Given the description of an element on the screen output the (x, y) to click on. 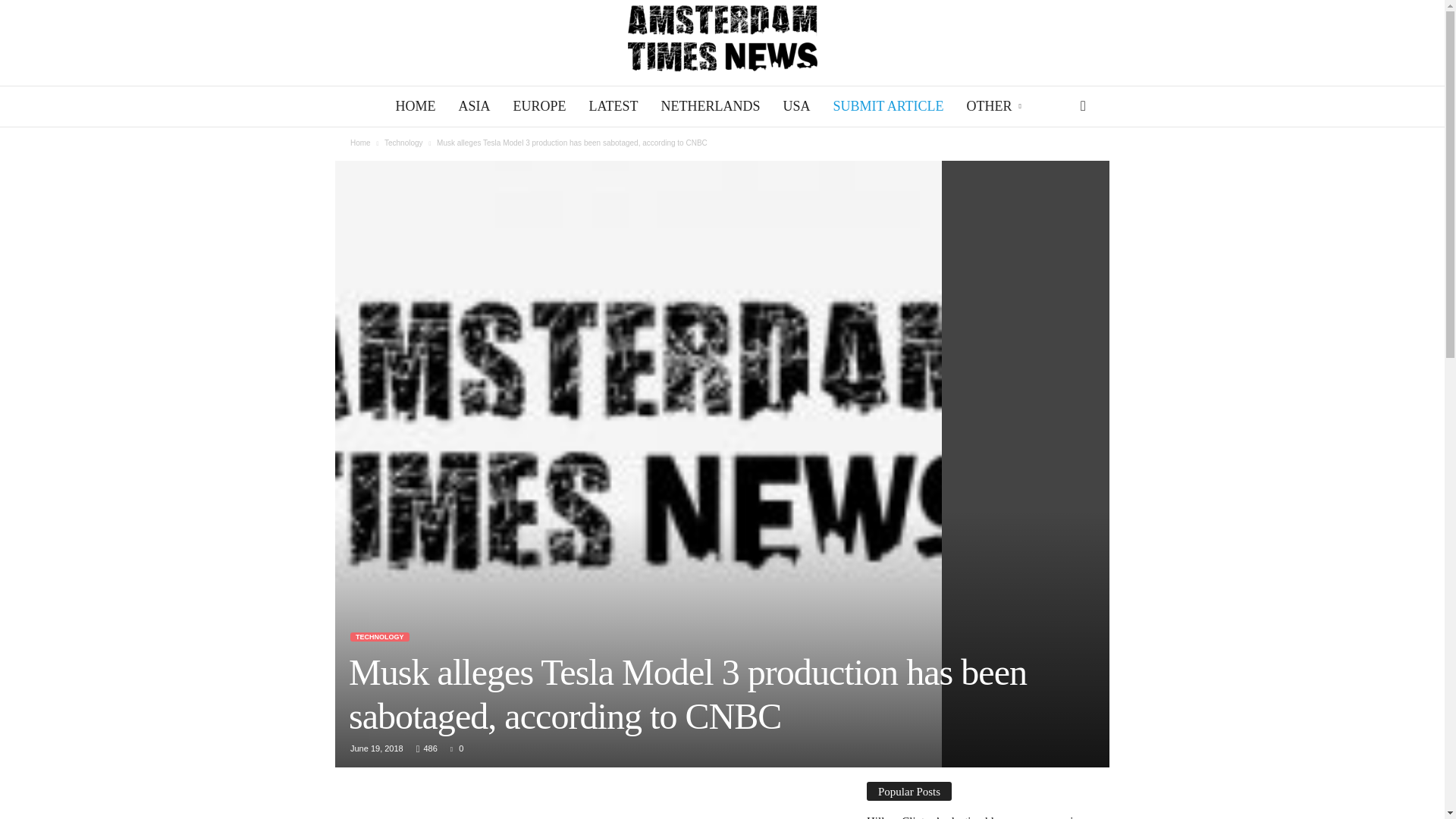
HOME (415, 106)
USA (796, 106)
View all posts in Technology (403, 142)
EUROPE (538, 106)
SUBMIT ARTICLE (888, 106)
OTHER (995, 106)
NETHERLANDS (710, 106)
ASIA (473, 106)
LATEST (612, 106)
